Given the description of an element on the screen output the (x, y) to click on. 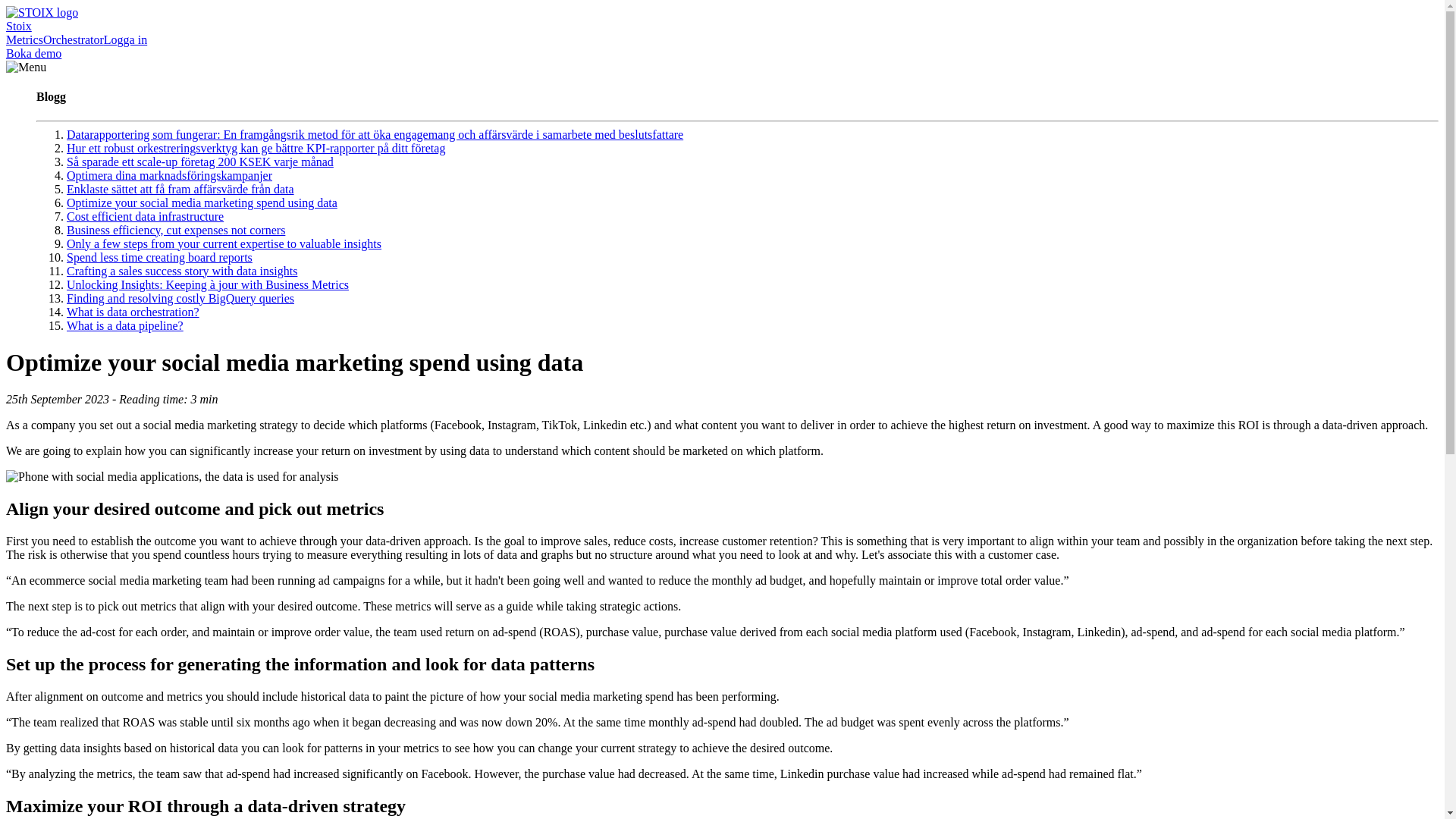
Metrics (24, 39)
Optimize your social media marketing spend using data (201, 202)
Crafting a sales success story with data insights (181, 270)
What is a data pipeline? (124, 325)
Spend less time creating board reports (158, 256)
Business efficiency, cut expenses not corners (175, 229)
What is data orchestration? (132, 311)
Finding and resolving costly BigQuery queries (180, 297)
Cost efficient data infrastructure (145, 215)
